Given the description of an element on the screen output the (x, y) to click on. 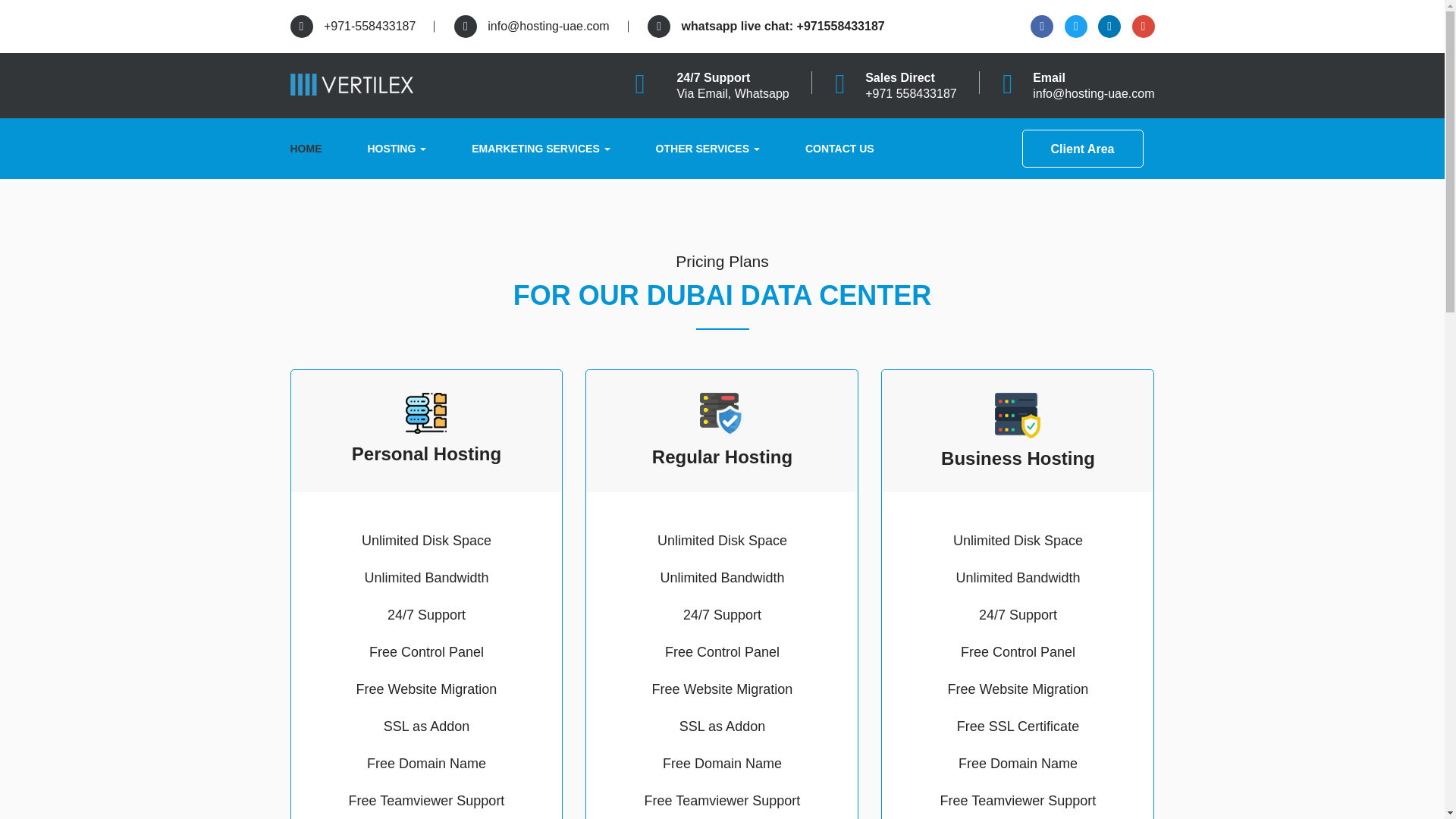
CONTACT US (839, 148)
OTHER SERVICES (708, 148)
EMARKETING SERVICES (540, 148)
HOSTING (397, 148)
Client Area (1082, 148)
